Given the description of an element on the screen output the (x, y) to click on. 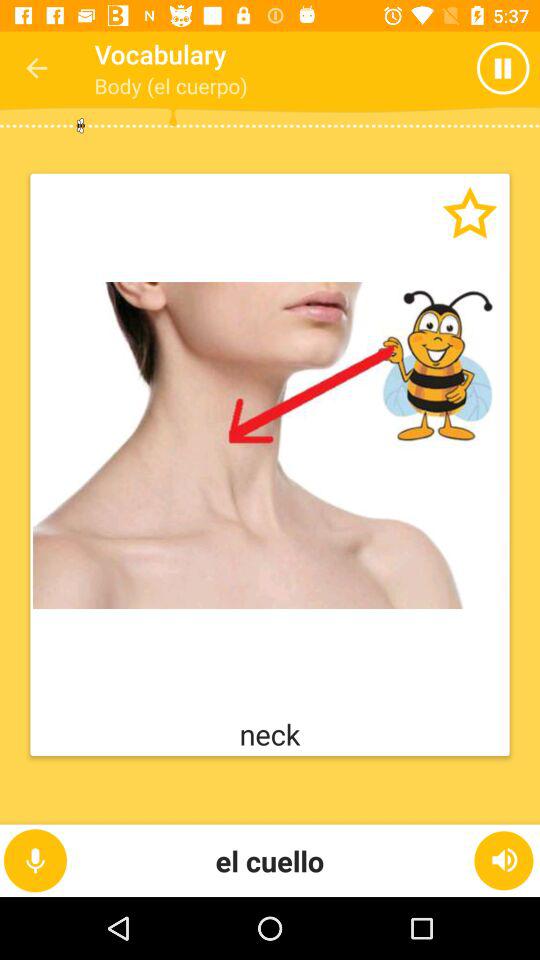
select icon to the left of the vocabulary icon (36, 68)
